Given the description of an element on the screen output the (x, y) to click on. 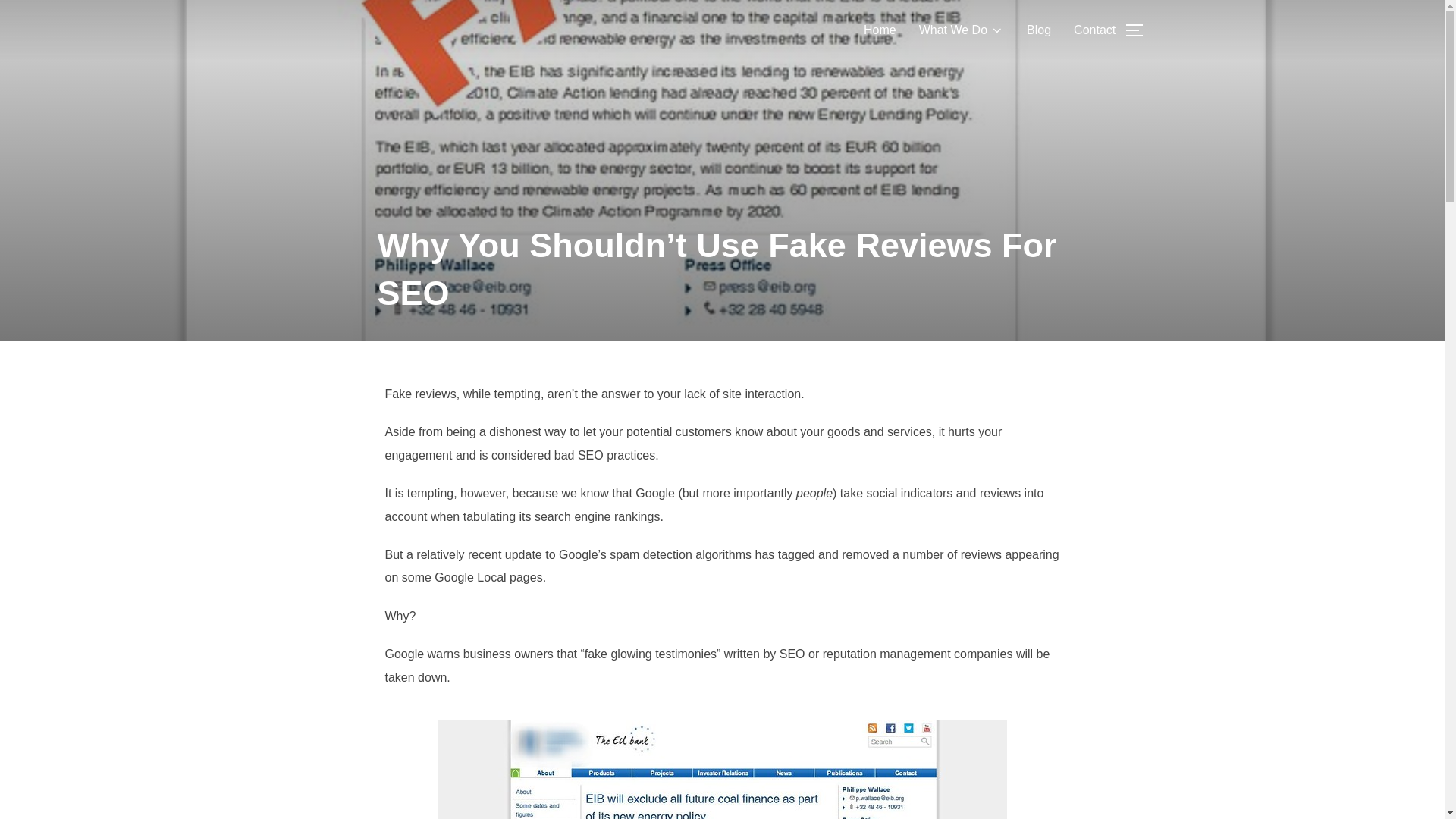
Home (879, 30)
Blog (1038, 30)
Contact (1094, 30)
What We Do (961, 30)
